Given the description of an element on the screen output the (x, y) to click on. 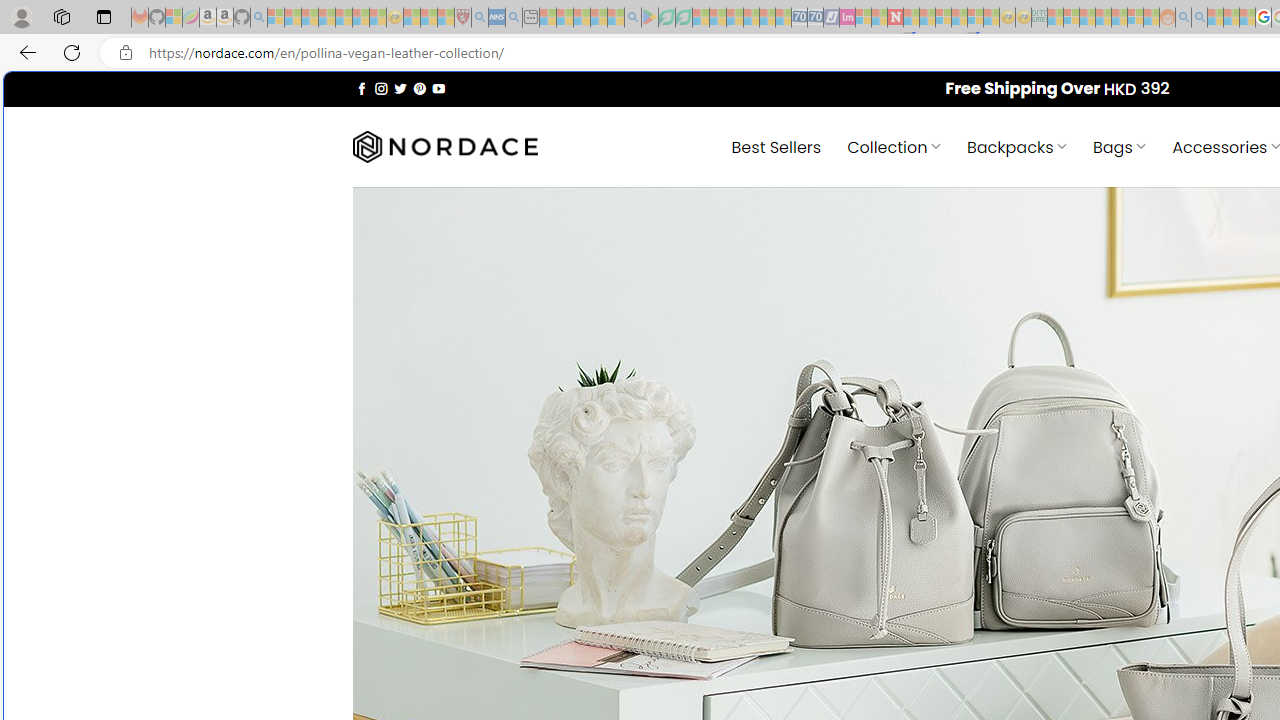
Follow on Twitter (400, 88)
